Given the description of an element on the screen output the (x, y) to click on. 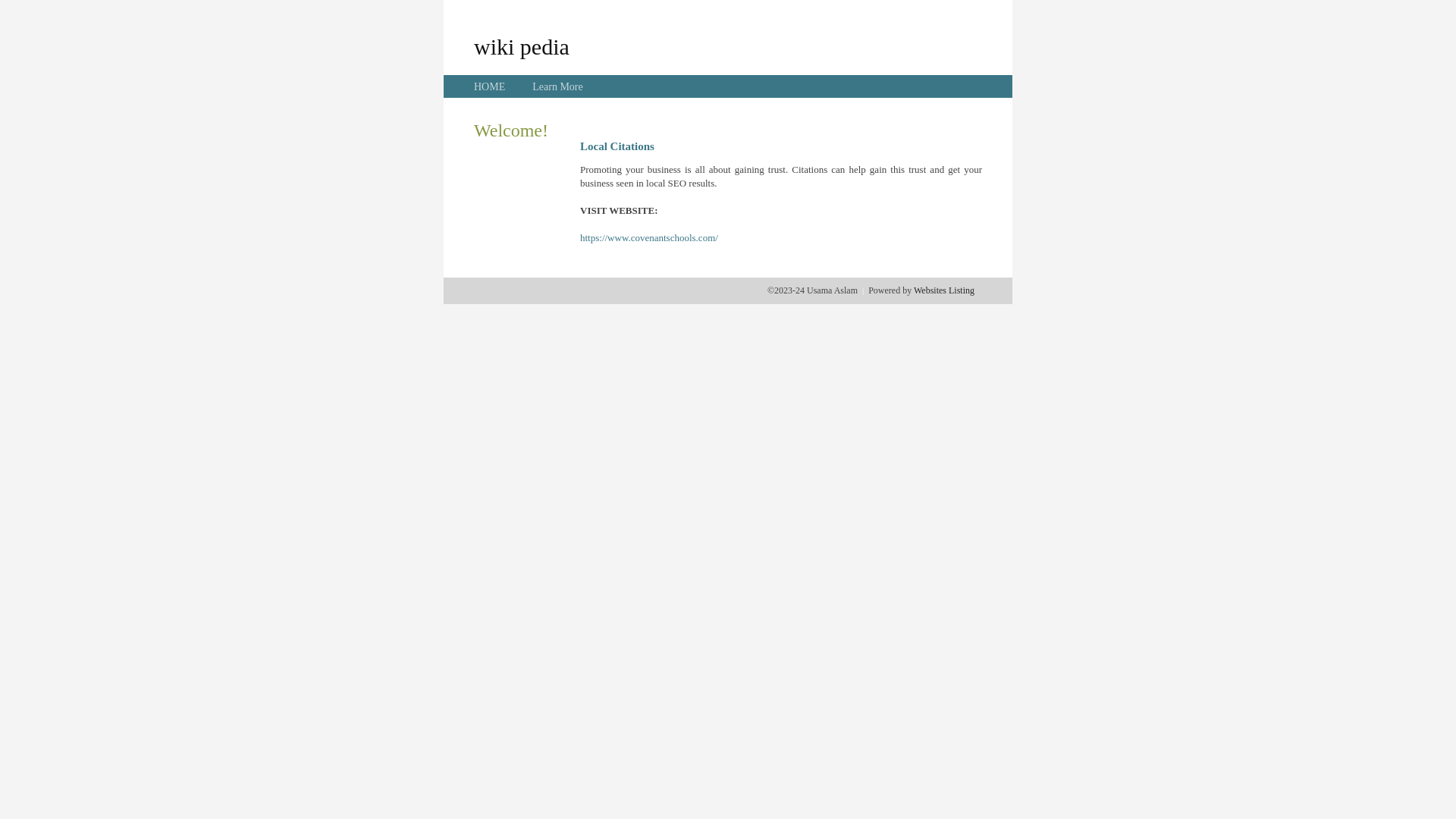
Websites Listing Element type: text (943, 290)
https://www.covenantschools.com/ Element type: text (649, 237)
HOME Element type: text (489, 86)
wiki pedia Element type: text (521, 46)
Learn More Element type: text (557, 86)
